Given the description of an element on the screen output the (x, y) to click on. 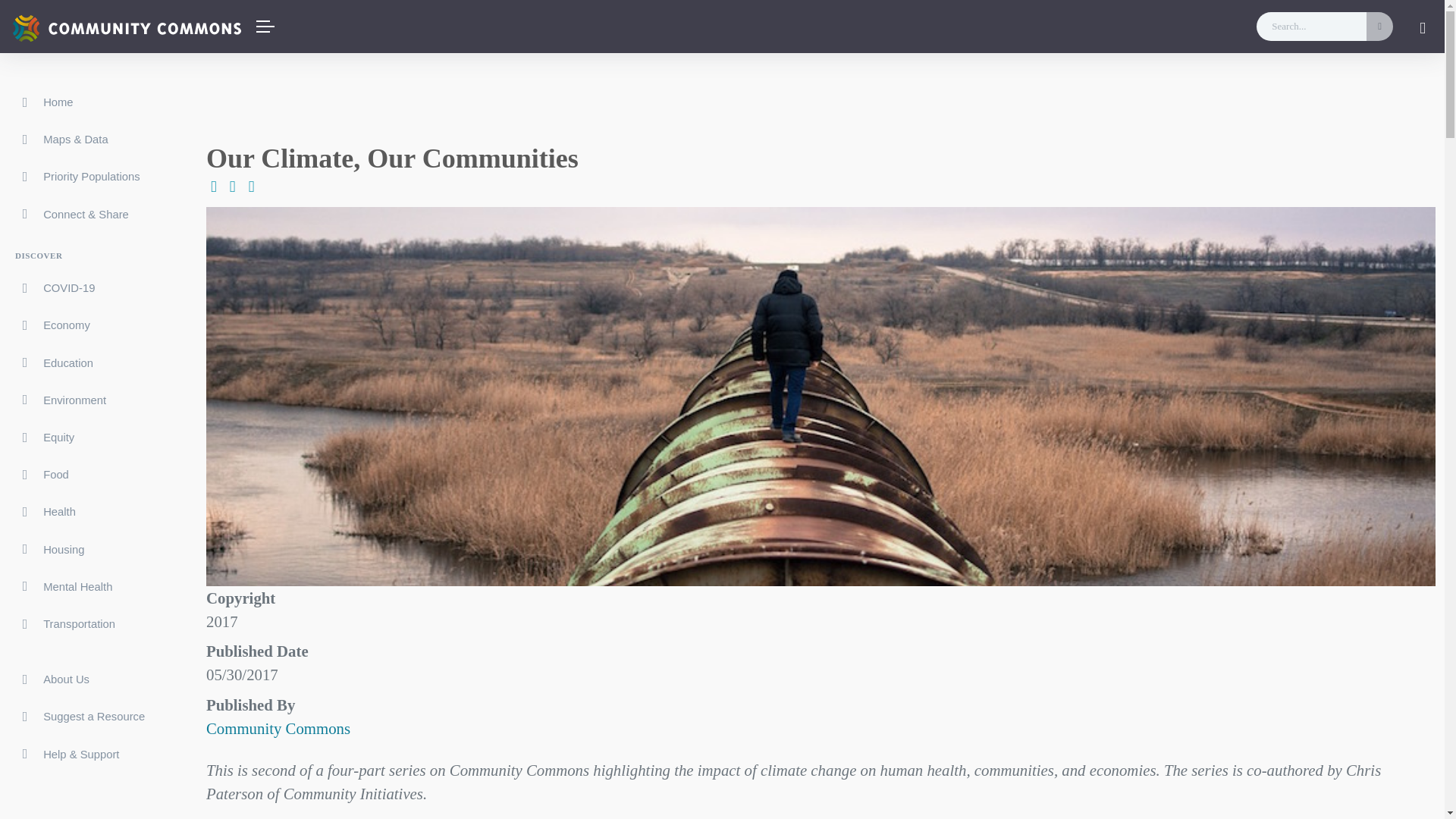
Environment (91, 399)
About Us (91, 678)
Home (91, 101)
Food (91, 474)
Education (91, 362)
Community Commons (278, 728)
Health (91, 511)
Economy (91, 324)
Mental Health (91, 586)
Equity (91, 436)
Housing (91, 549)
Priority Populations (91, 176)
Suggest a Resource (91, 715)
Transportation (91, 623)
COVID-19 (91, 287)
